Given the description of an element on the screen output the (x, y) to click on. 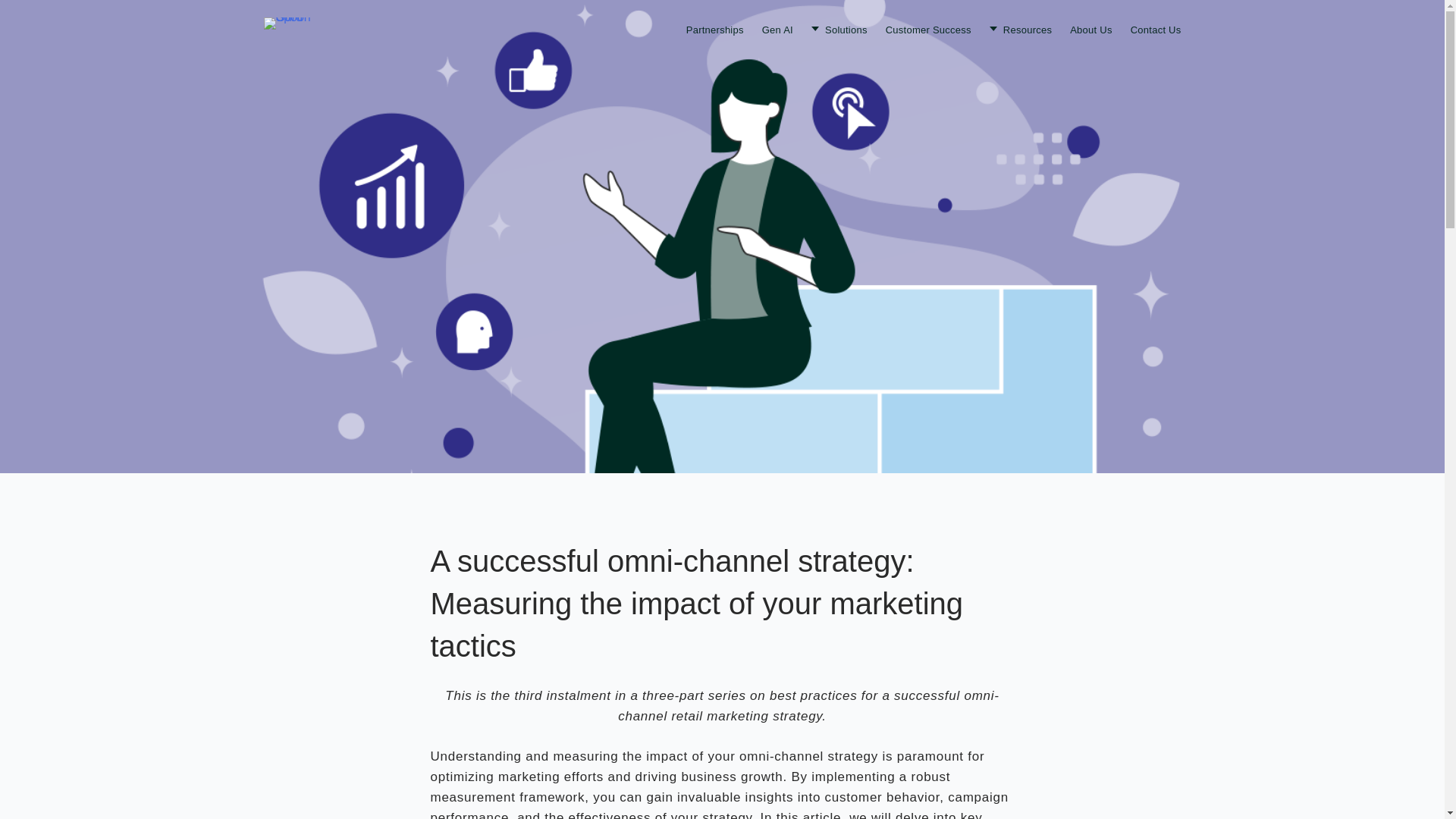
Resources (1020, 30)
Gen AI (777, 30)
About Us (1091, 30)
Customer Success (928, 30)
Solutions (838, 30)
Contact Us (1155, 30)
Partnerships (714, 30)
